Given the description of an element on the screen output the (x, y) to click on. 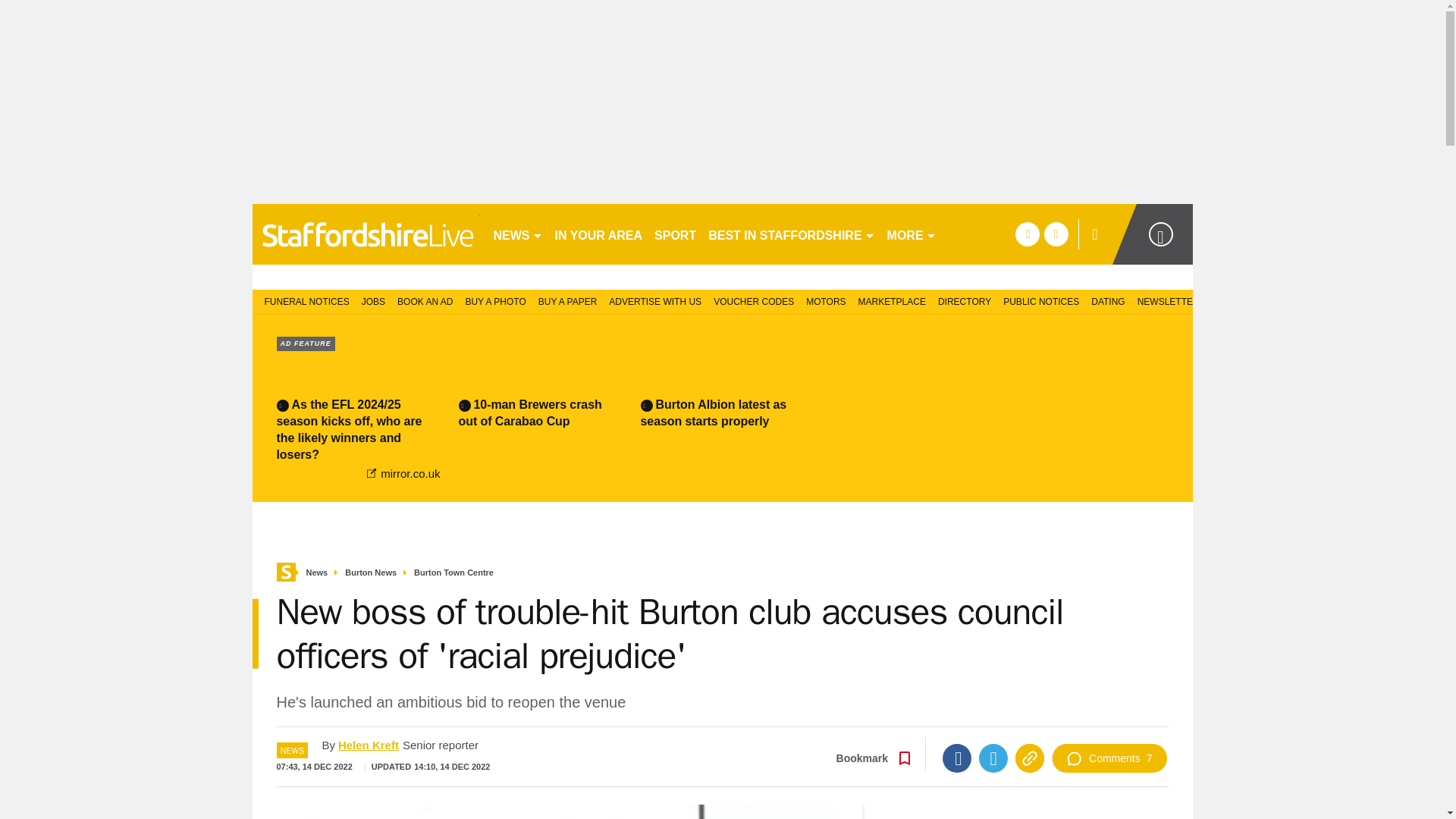
MOTORS (825, 300)
VOUCHER CODES (753, 300)
BUY A PHOTO (494, 300)
BEST IN STAFFORDSHIRE (790, 233)
NEWS (517, 233)
MORE (911, 233)
ADVERTISE WITH US (654, 300)
burtonmail (365, 233)
JOBS (373, 300)
twitter (1055, 233)
